Given the description of an element on the screen output the (x, y) to click on. 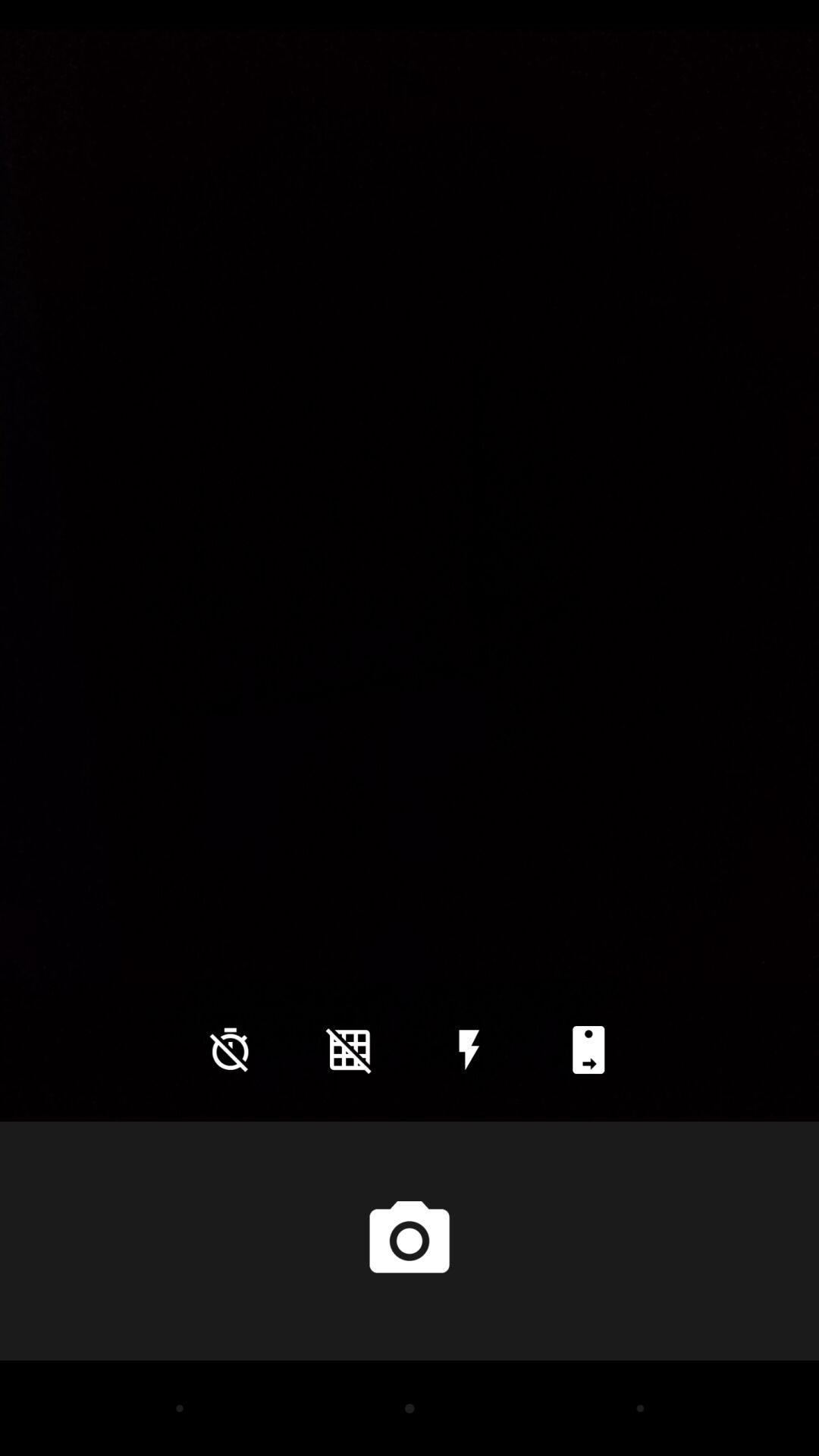
tap item at the bottom right corner (588, 1049)
